Given the description of an element on the screen output the (x, y) to click on. 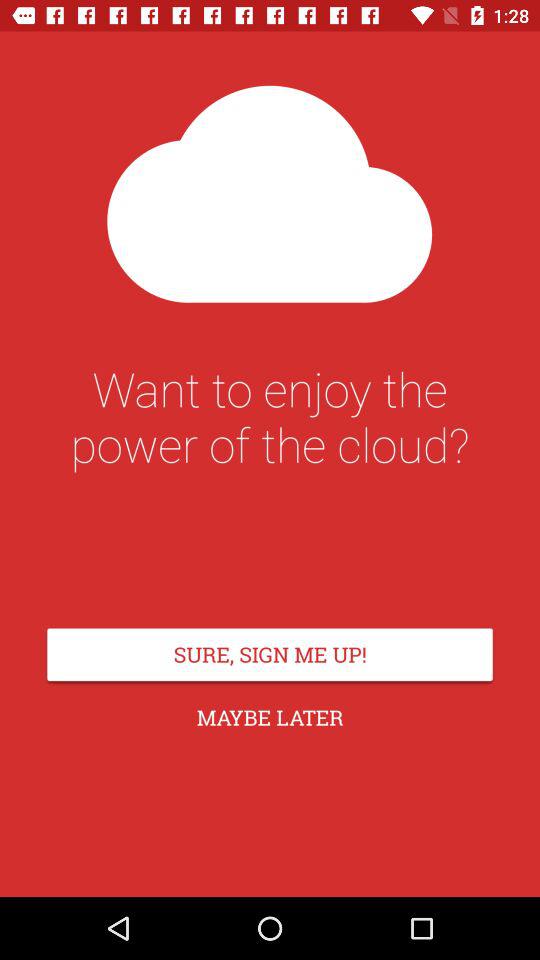
launch the icon below the want to enjoy icon (269, 654)
